Given the description of an element on the screen output the (x, y) to click on. 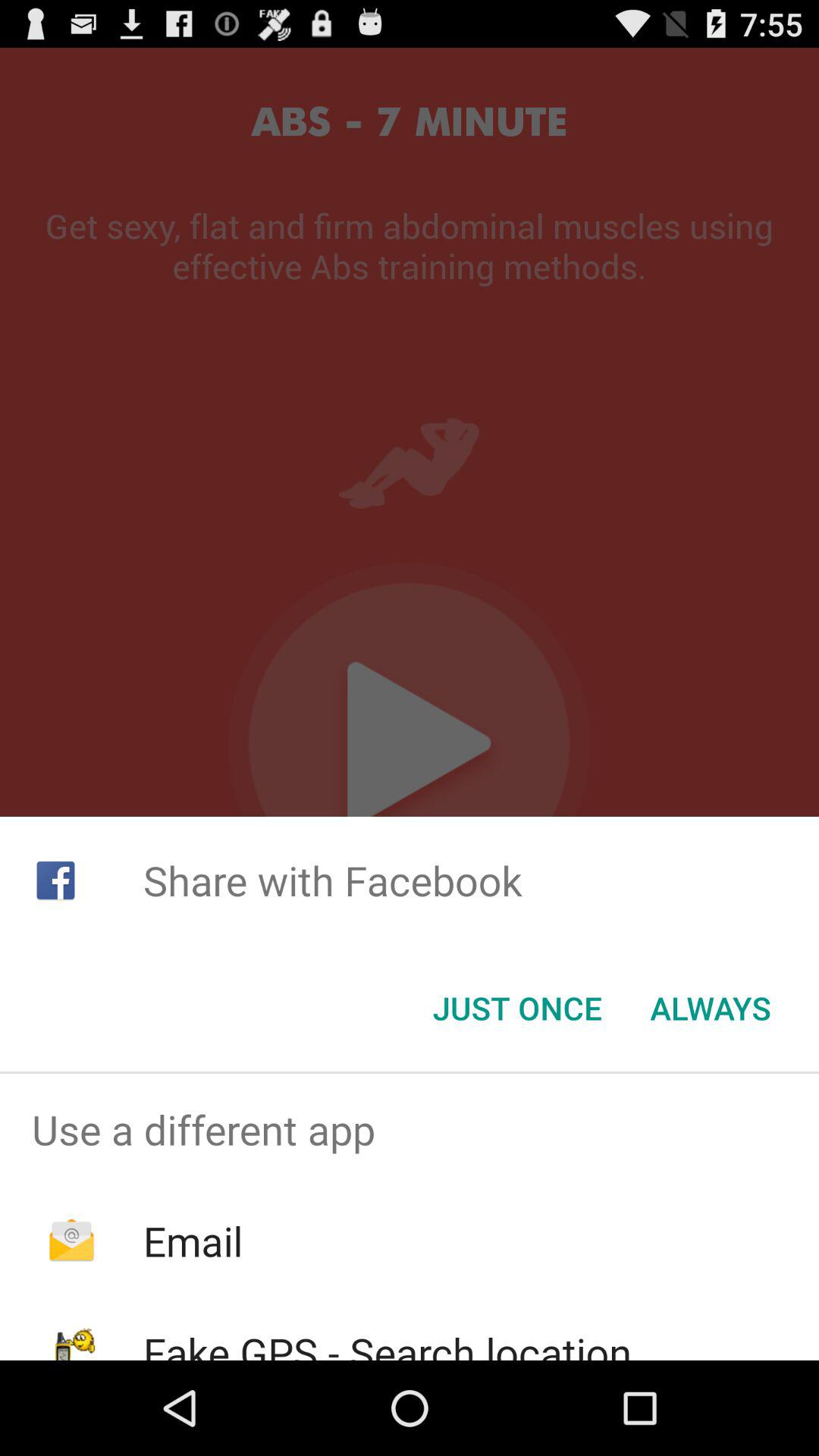
select the icon above the fake gps search icon (192, 1240)
